Given the description of an element on the screen output the (x, y) to click on. 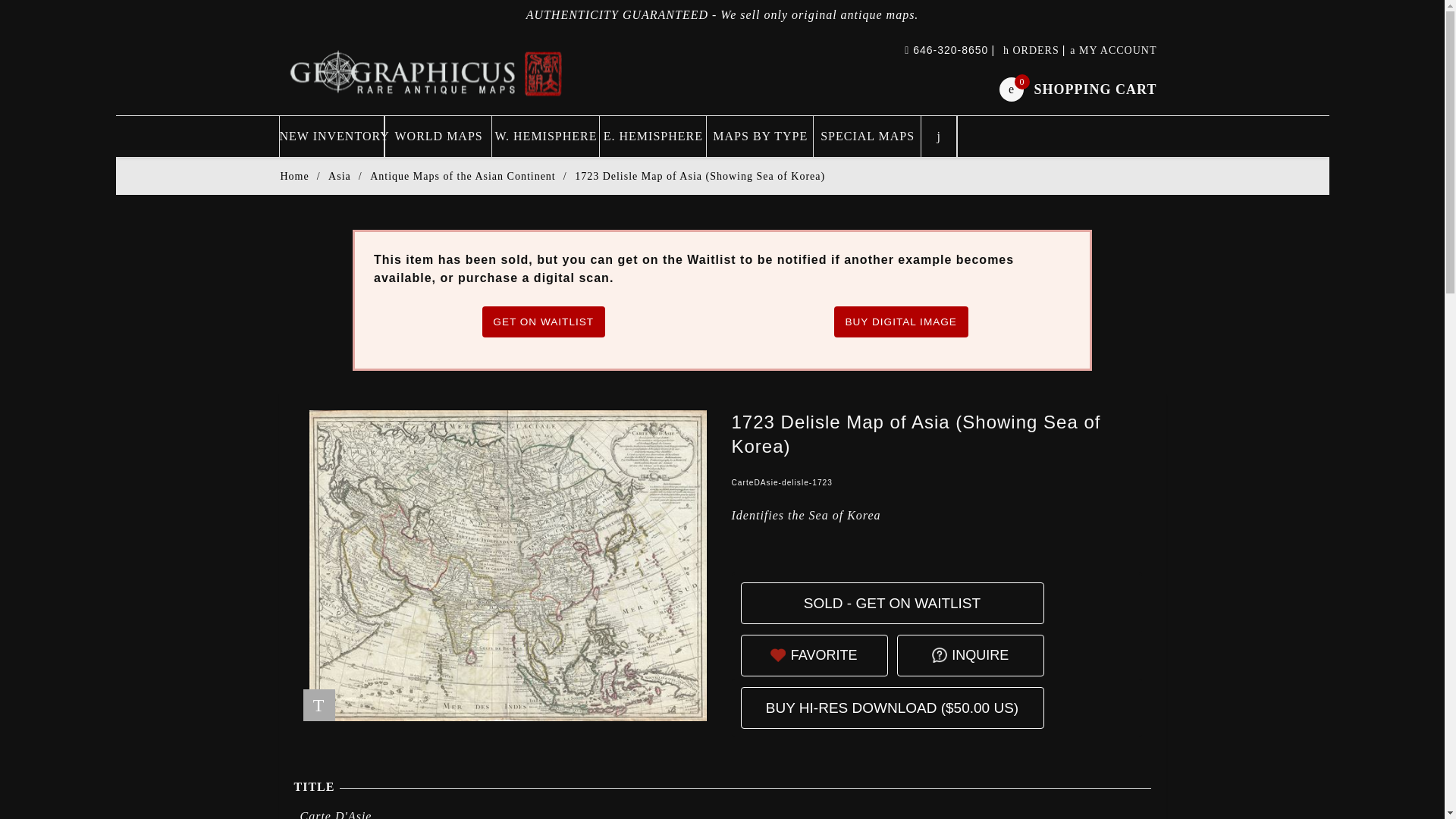
Geographicus Rare Antique Maps (427, 72)
NEW INVENTORY (331, 136)
FAVORITE (823, 654)
MY ACCOUNT (1113, 50)
Home (294, 175)
Antique Maps of the Asian Continent (462, 175)
SOLD - GET ON WAITLIST (891, 603)
Geographicus Rare Antique Maps (427, 72)
INQUIRE (980, 654)
ORDERS (1031, 50)
